Given the description of an element on the screen output the (x, y) to click on. 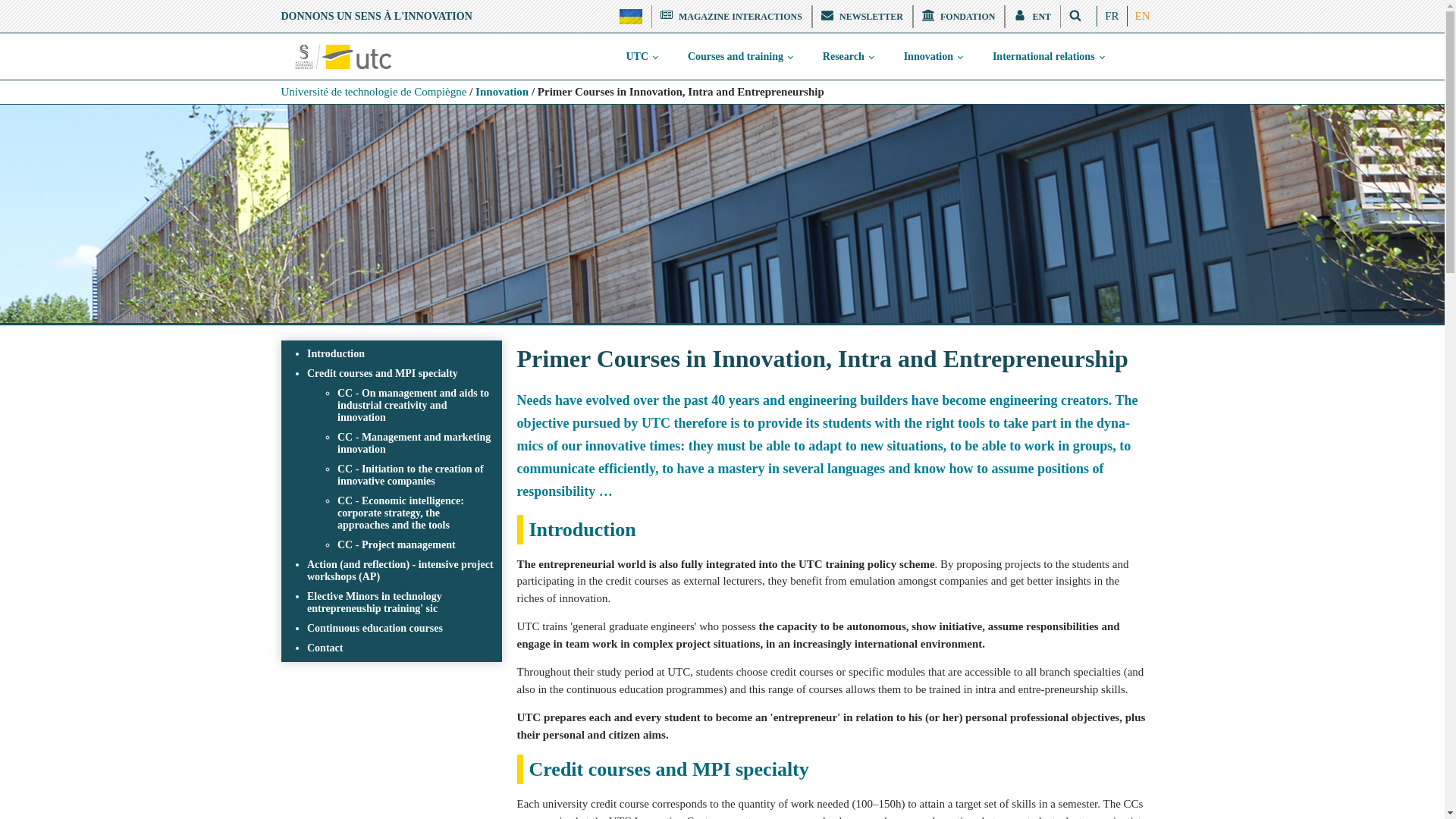
ENT (1032, 15)
MAGAZINE INTERACTIONS (731, 15)
Go to Innovation. (502, 91)
Innovation (932, 56)
Research (848, 56)
International relations (1047, 56)
FONDATION (958, 15)
UTC (640, 56)
EN (1141, 15)
FR (1111, 15)
